Given the description of an element on the screen output the (x, y) to click on. 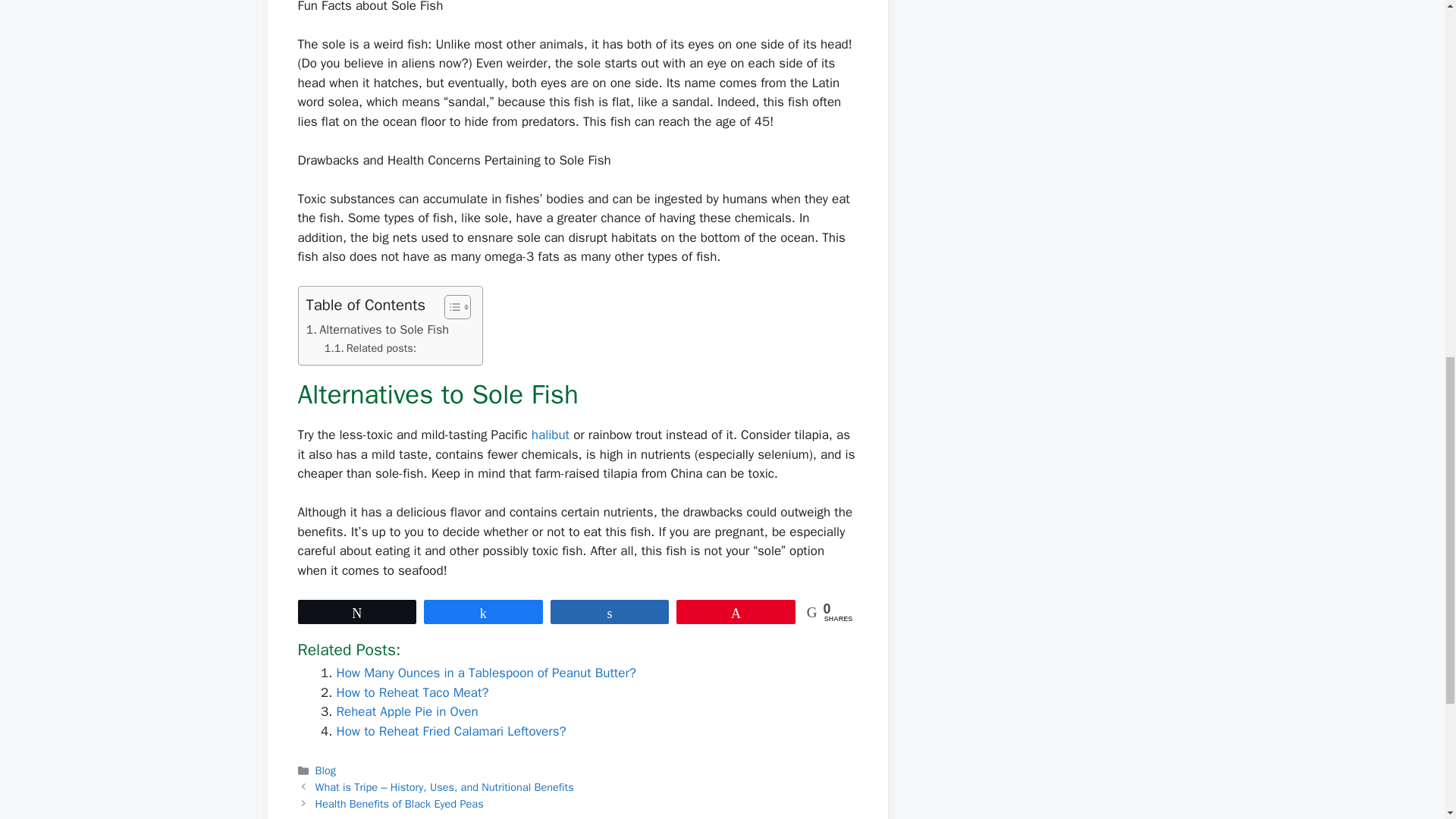
Next (399, 802)
Alternatives to Sole Fish (377, 329)
Related posts: (370, 348)
Previous (444, 786)
How to Reheat Fried Calamari Leftovers? (451, 731)
How to Reheat Fried Calamari Leftovers? (451, 731)
Reheat Apple Pie in Oven (407, 711)
Blog (325, 770)
Alternatives to Sole Fish (377, 329)
Health Benefits of Black Eyed Peas (399, 802)
